Given the description of an element on the screen output the (x, y) to click on. 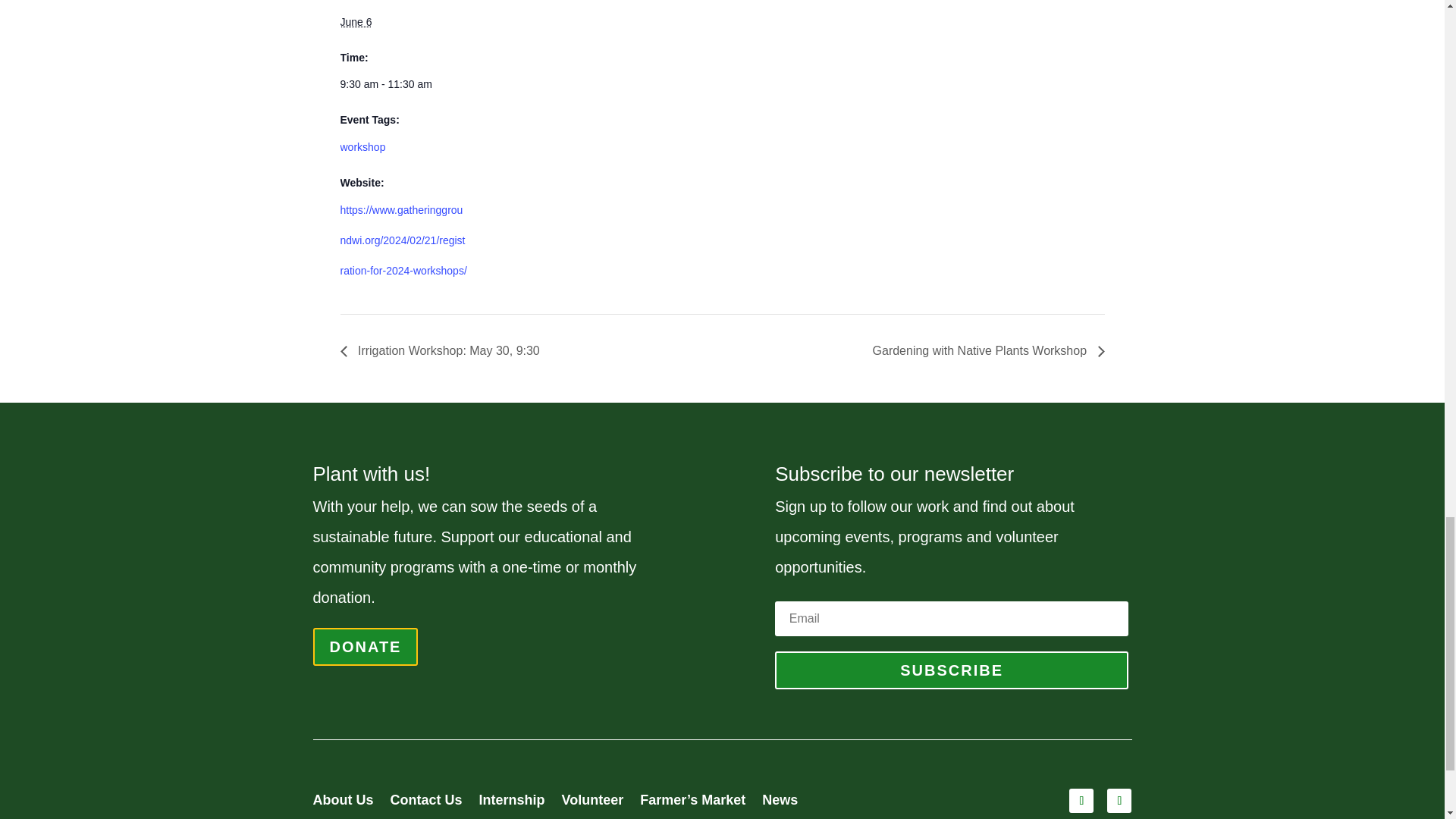
2024-06-06 (355, 21)
Irrigation Workshop: May 30, 9:30 (443, 350)
2024-06-06 (403, 83)
Volunteer (593, 802)
Follow on Facebook (1080, 800)
News (779, 802)
Follow on Instagram (1118, 800)
About Us (342, 802)
DONATE (365, 646)
Contact Us (425, 802)
